Given the description of an element on the screen output the (x, y) to click on. 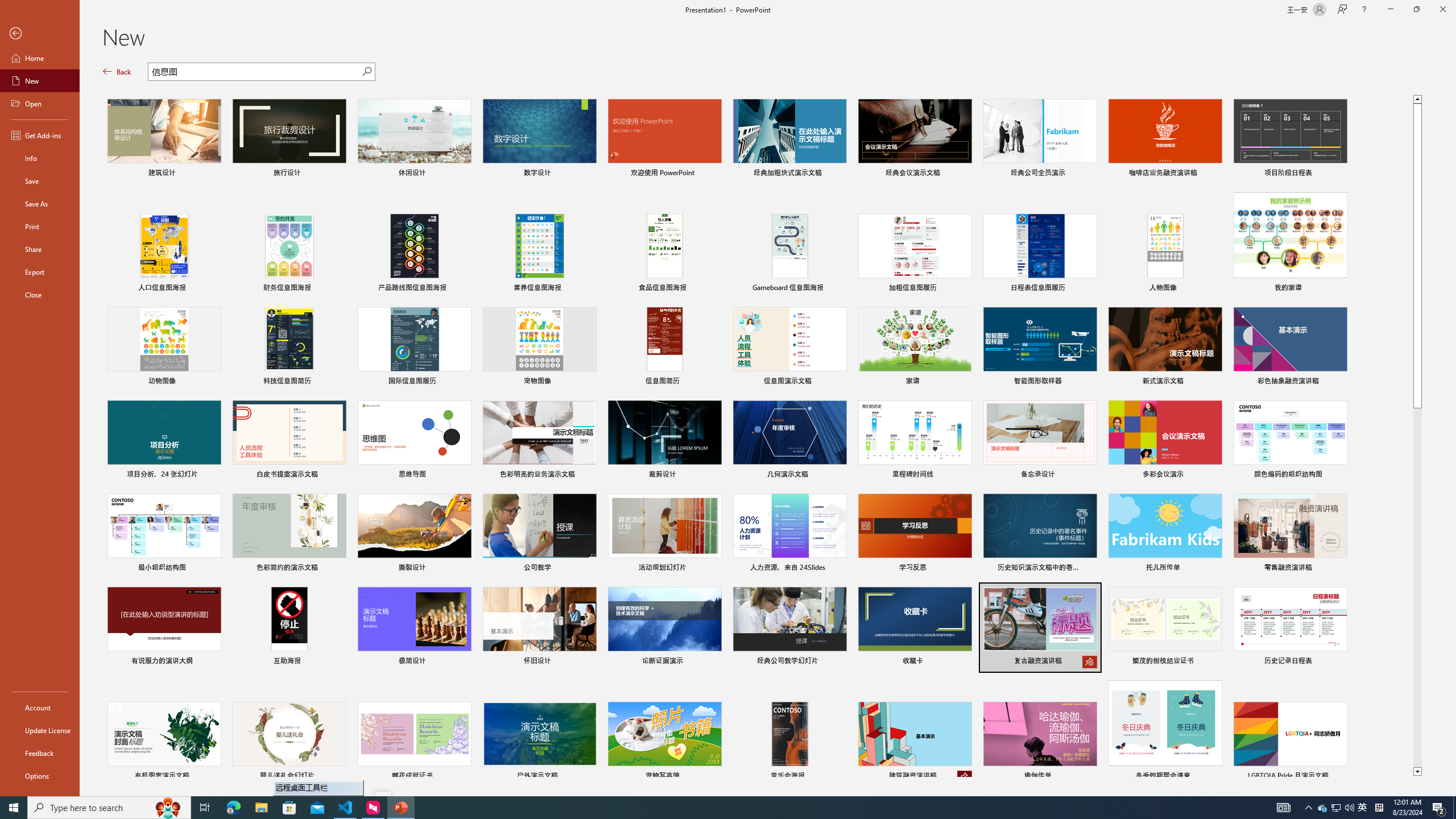
New (40, 80)
Page down (1417, 587)
Class: NetUIScrollBar (1450, 428)
Export (40, 271)
